Given the description of an element on the screen output the (x, y) to click on. 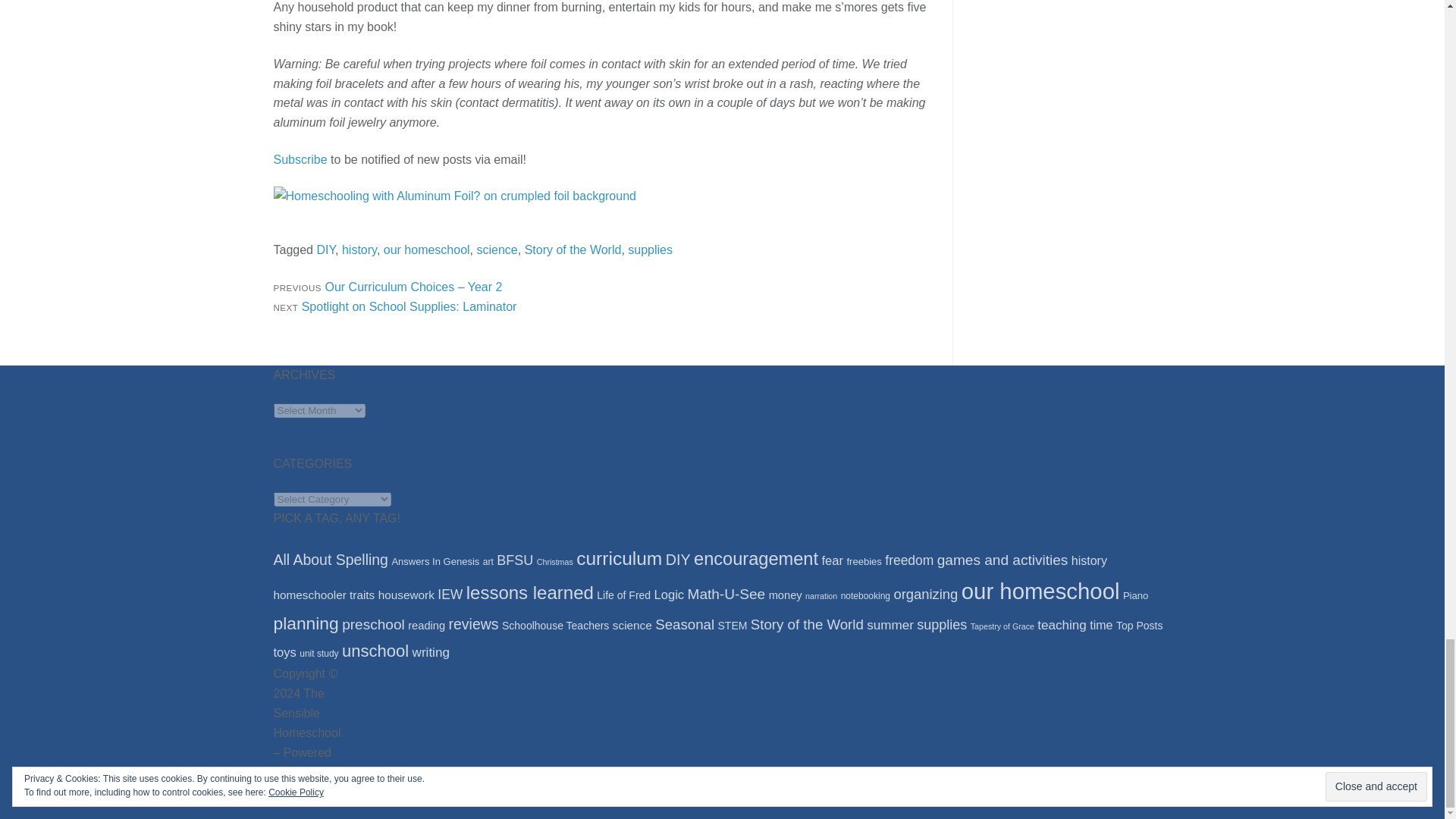
Story of the World (572, 249)
DIY (324, 249)
history (359, 249)
our homeschool (427, 249)
Subscribe (299, 159)
science (496, 249)
supplies (394, 306)
